Given the description of an element on the screen output the (x, y) to click on. 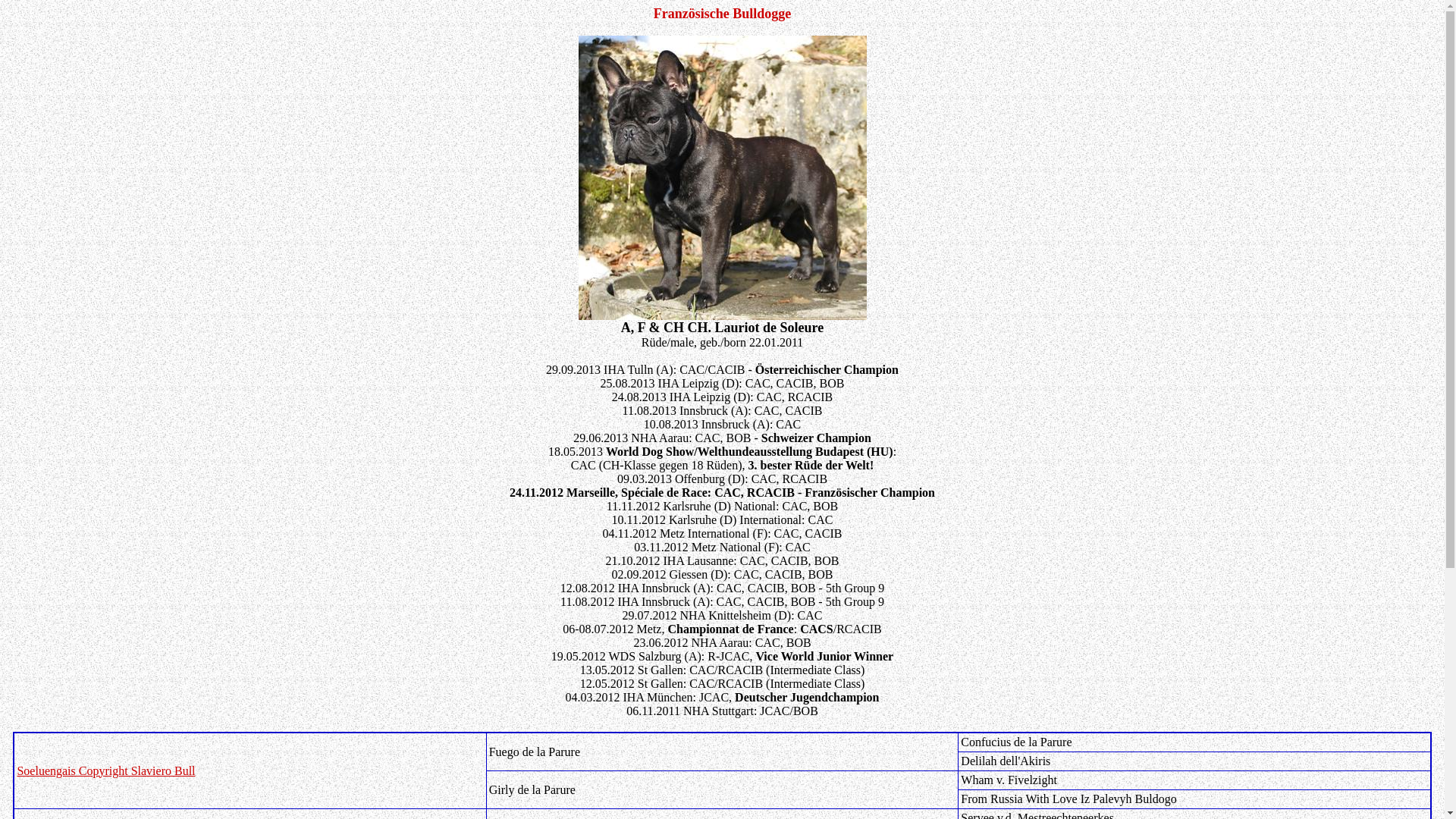
Soeluengais Copyright Slaviero Bull Element type: text (105, 770)
